Given the description of an element on the screen output the (x, y) to click on. 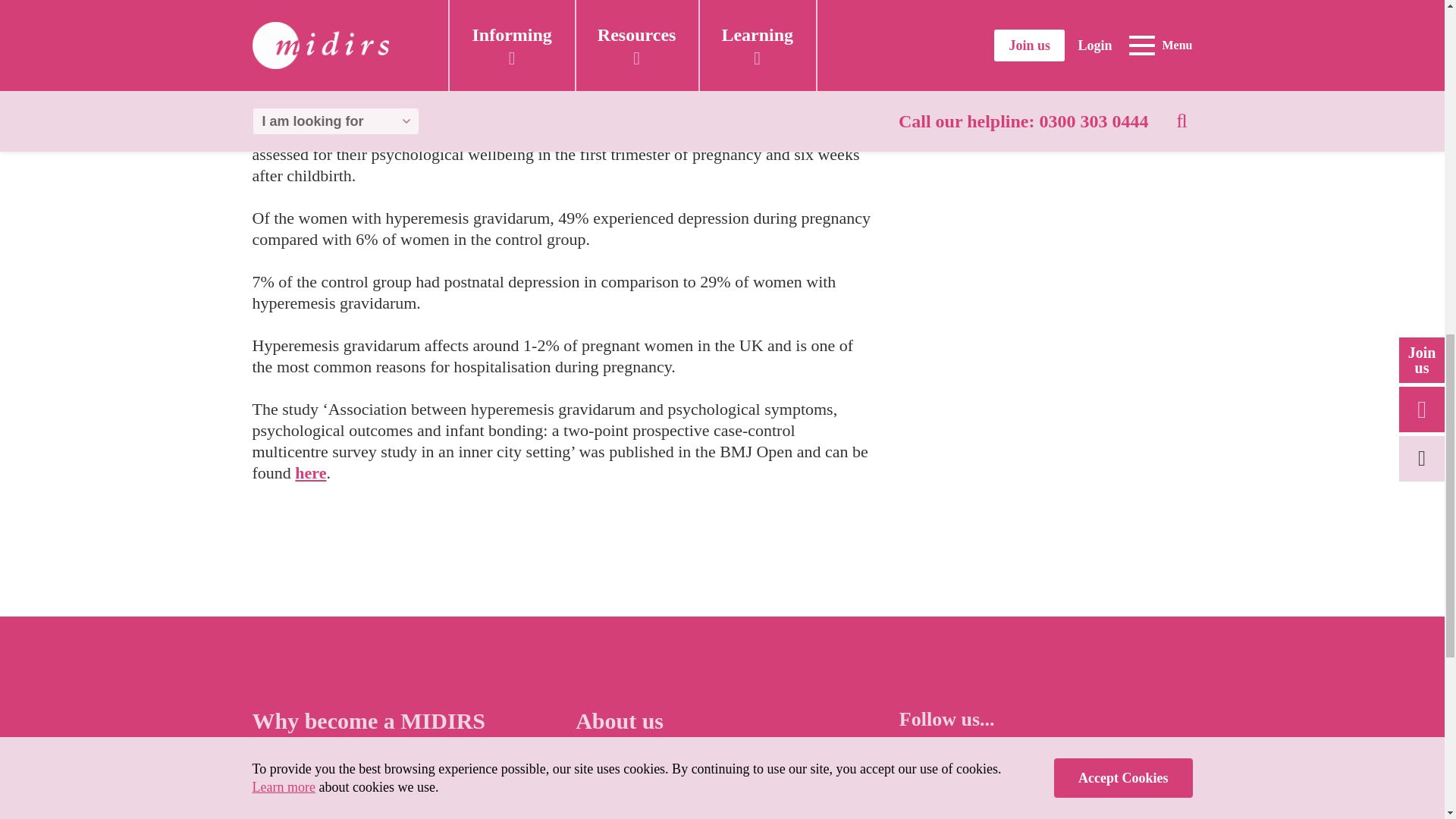
About us (619, 720)
Why become a MIDIRS subscriber? (367, 734)
